Given the description of an element on the screen output the (x, y) to click on. 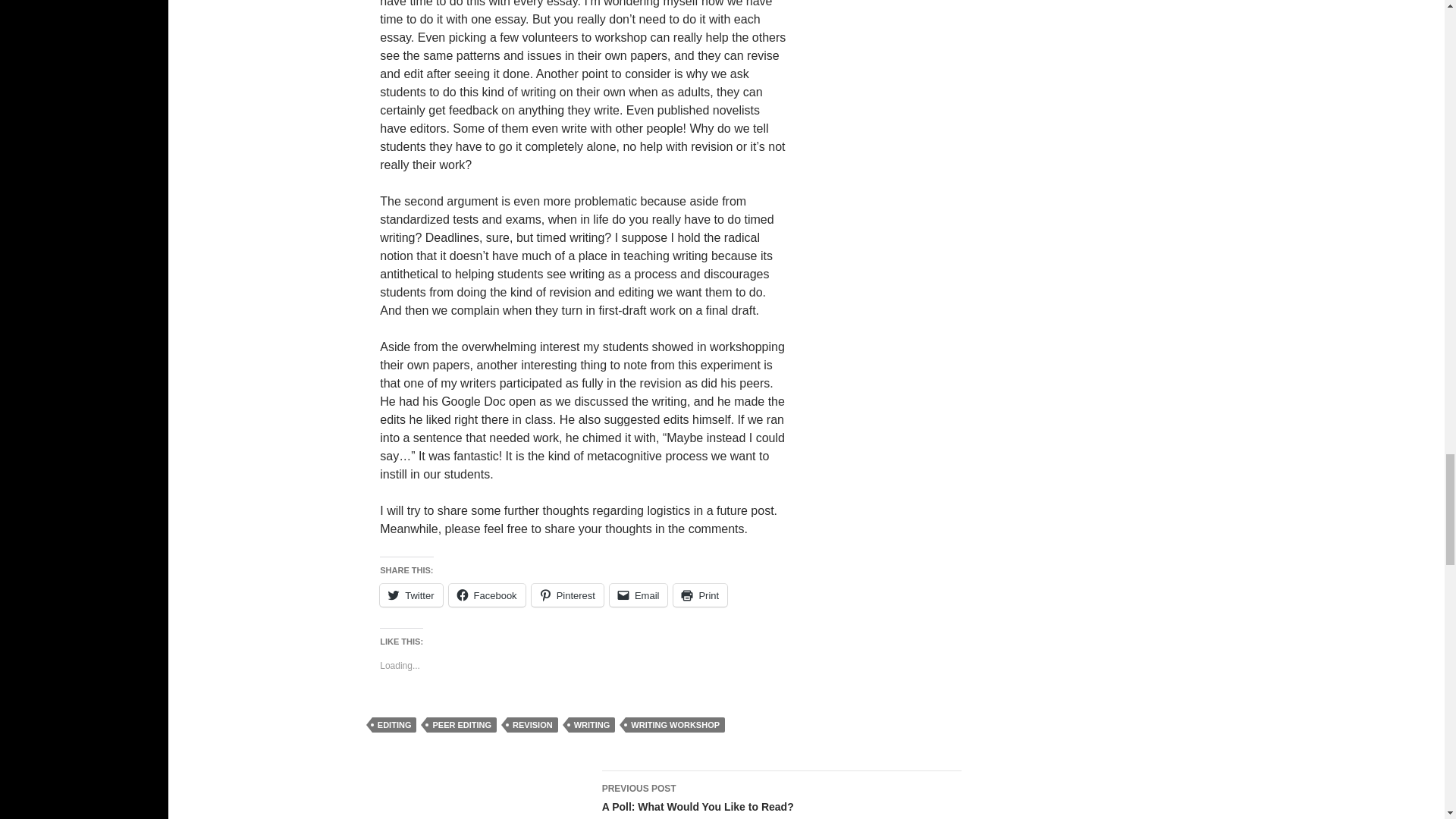
Click to share on Twitter (411, 594)
Email (639, 594)
Click to share on Facebook (486, 594)
Print (699, 594)
Click to share on Pinterest (567, 594)
EDITING (394, 724)
PEER EDITING (461, 724)
REVISION (531, 724)
Click to email a link to a friend (639, 594)
Pinterest (567, 594)
